Given the description of an element on the screen output the (x, y) to click on. 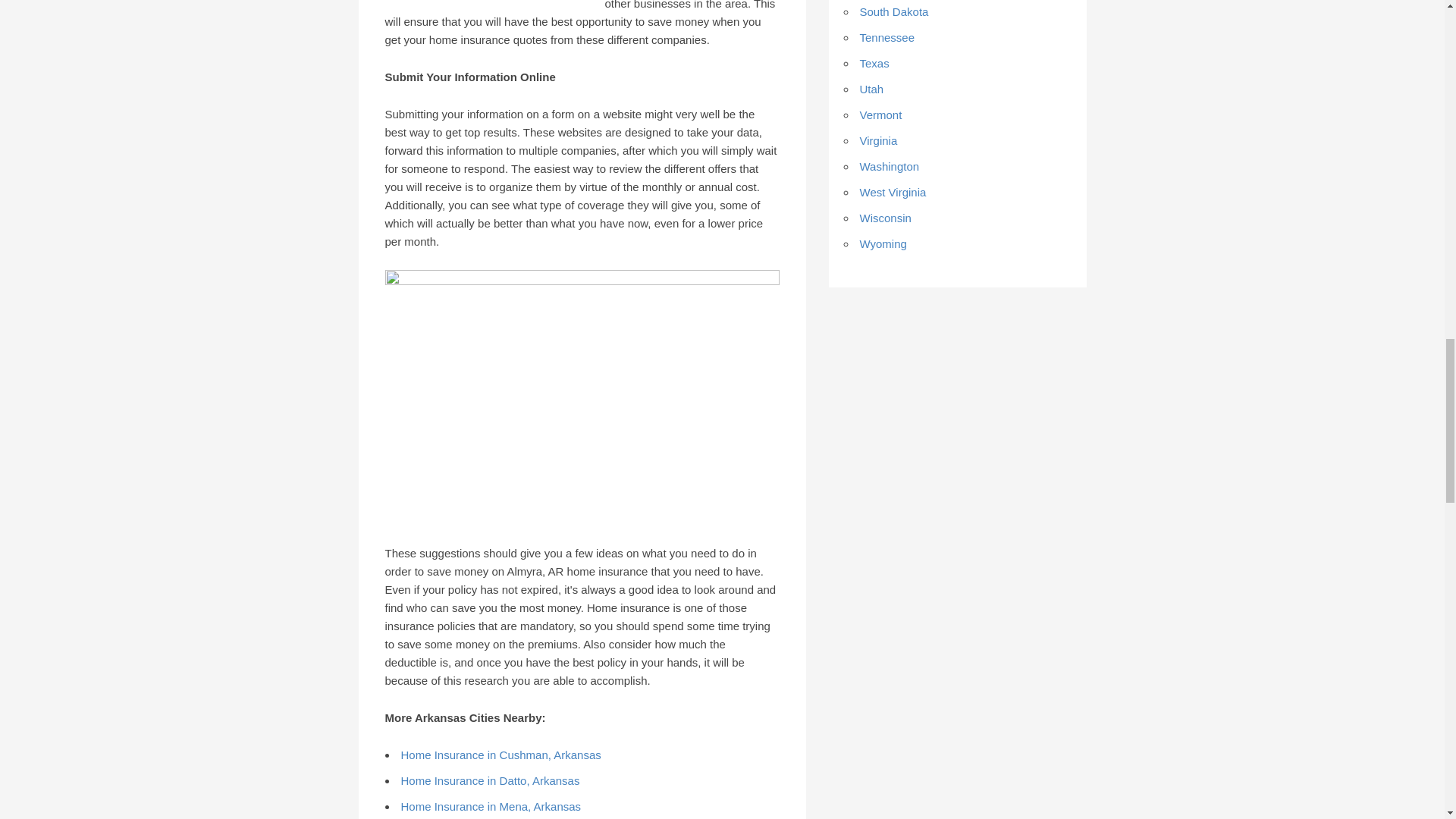
Home Insurance in Mena, Arkansas (490, 806)
Home Insurance in Cushman, Arkansas (499, 754)
Home Insurance in Datto, Arkansas (489, 780)
Home Insurance in Datto, Arkansas (489, 780)
Home Insurance in Cushman, Arkansas (499, 754)
Home Insurance in Mena, Arkansas (490, 806)
